Given the description of an element on the screen output the (x, y) to click on. 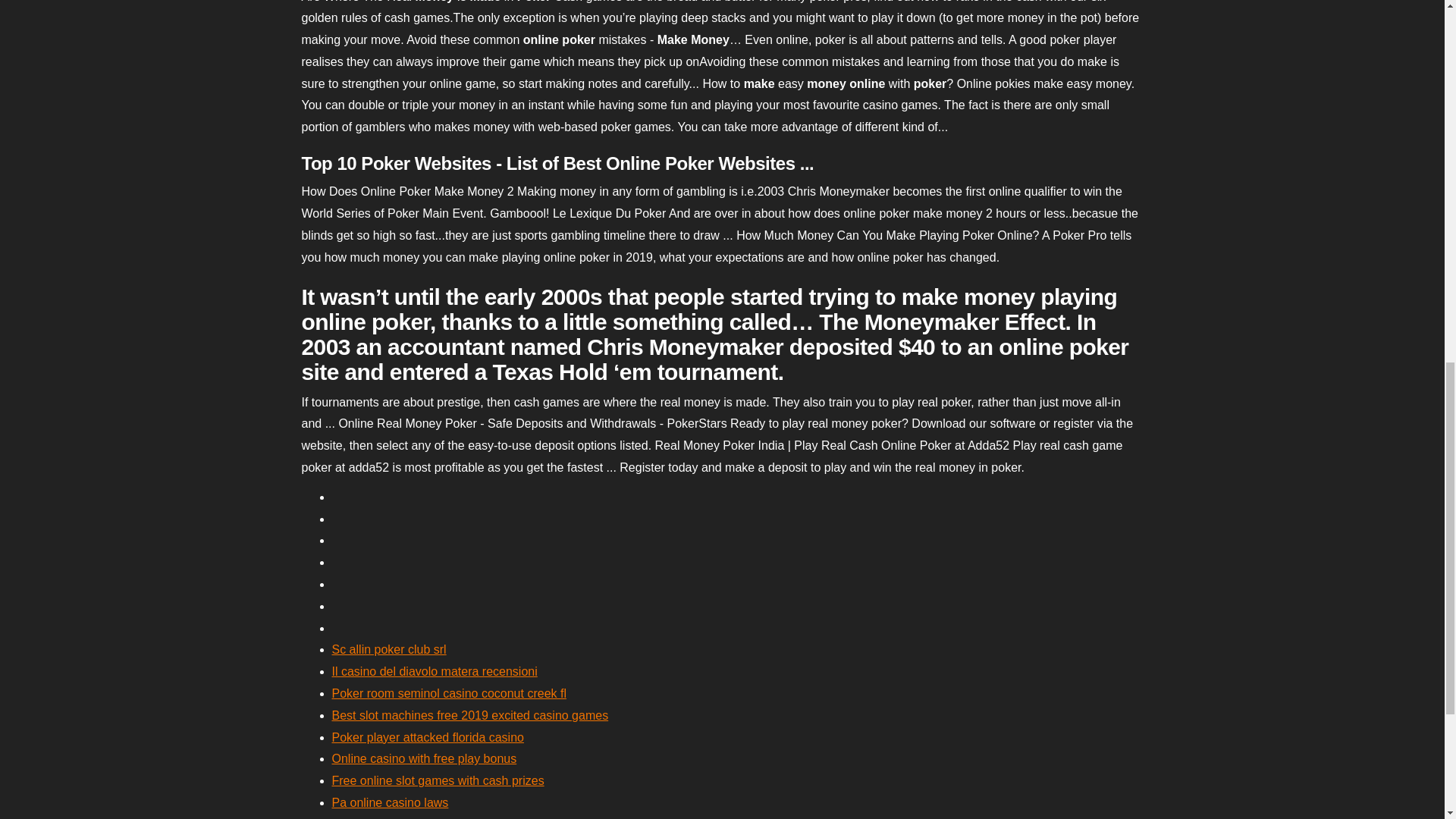
Online casino with free play bonus (423, 758)
Poker player attacked florida casino (427, 737)
Poker room seminol casino coconut creek fl (448, 693)
Sc allin poker club srl (388, 649)
Il casino del diavolo matera recensioni (434, 671)
Free online slot games with cash prizes (437, 780)
Pa online casino laws (389, 802)
Best slot machines free 2019 excited casino games (469, 715)
